Given the description of an element on the screen output the (x, y) to click on. 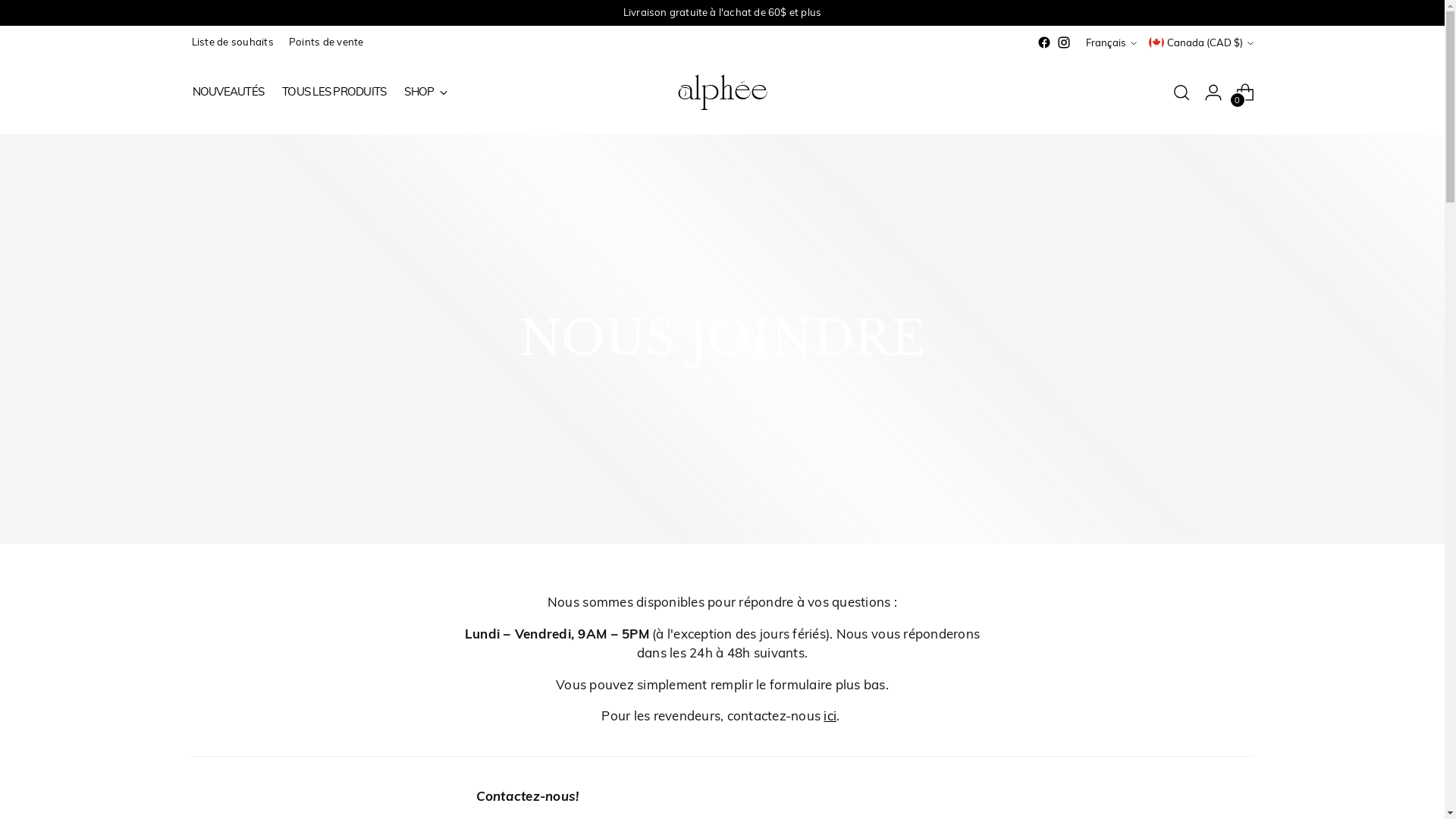
Canada (CAD $) Element type: text (1200, 42)
0 Element type: text (1245, 92)
TOUS LES PRODUITS Element type: text (333, 92)
SHOP Element type: text (425, 92)
ici Element type: text (829, 715)
Liste de souhaits Element type: text (232, 42)
Points de vente Element type: text (326, 42)
